Given the description of an element on the screen output the (x, y) to click on. 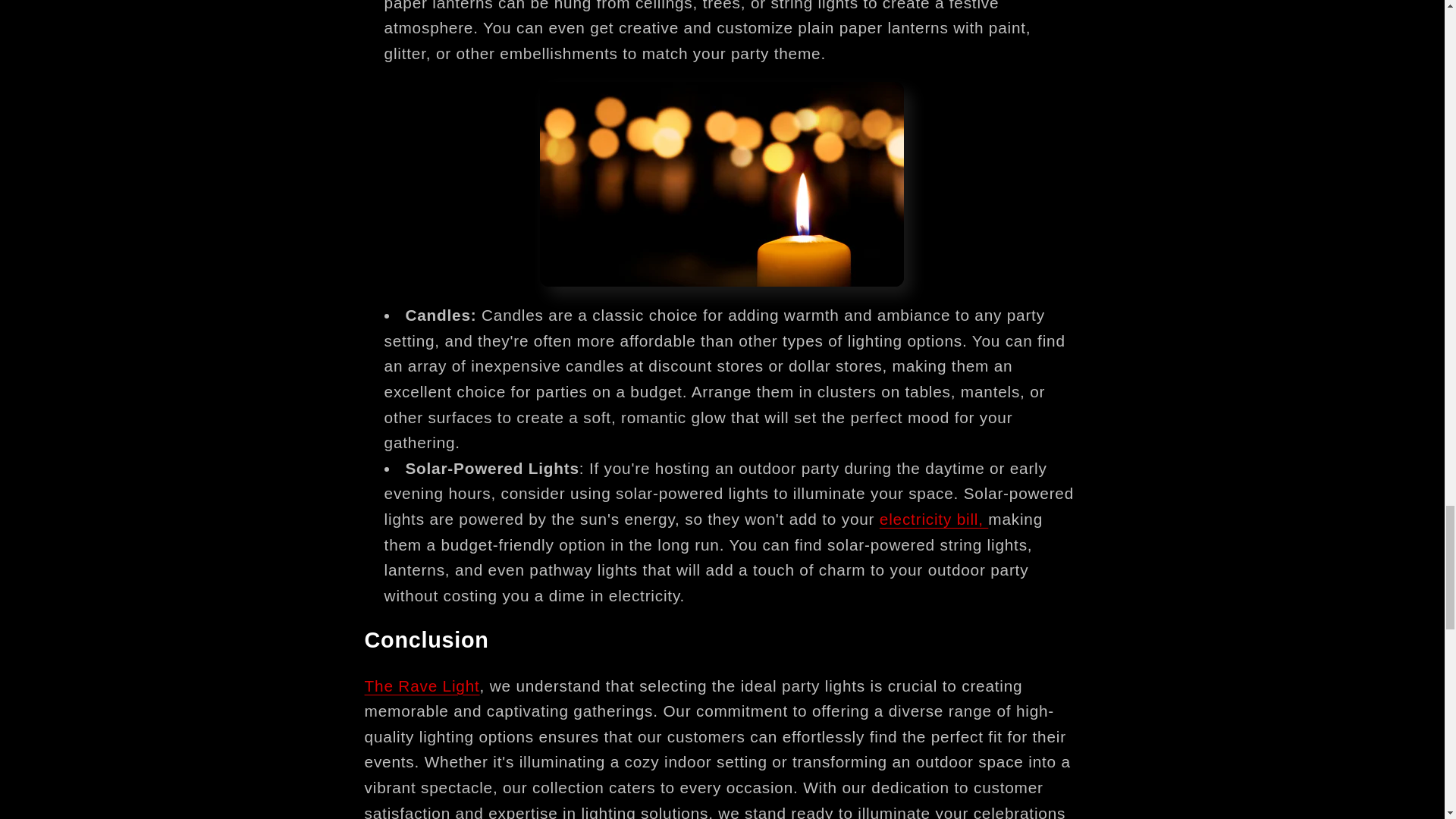
electricity bill, (933, 518)
The Rave Light (422, 685)
